Given the description of an element on the screen output the (x, y) to click on. 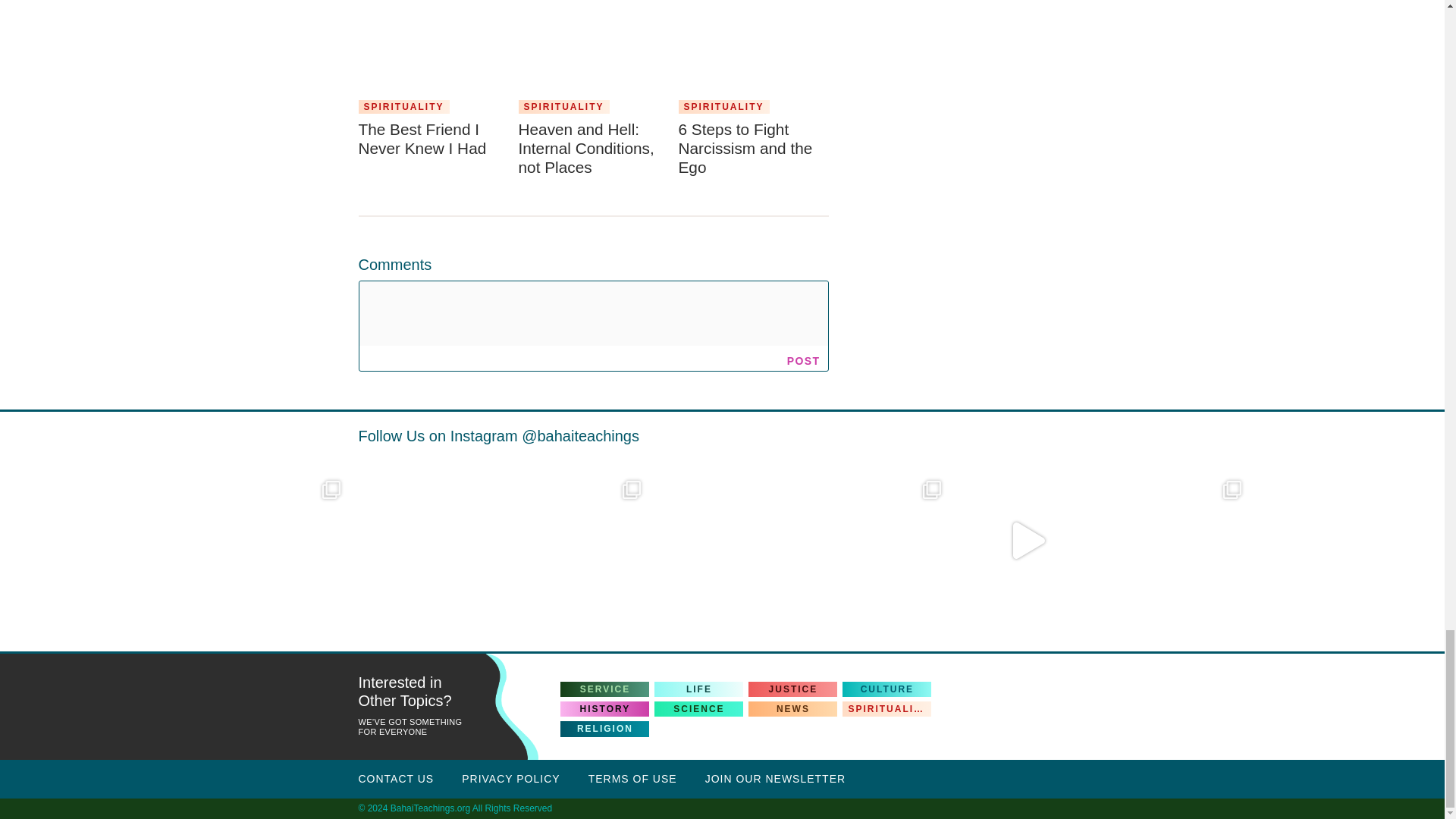
Post (804, 360)
